Given the description of an element on the screen output the (x, y) to click on. 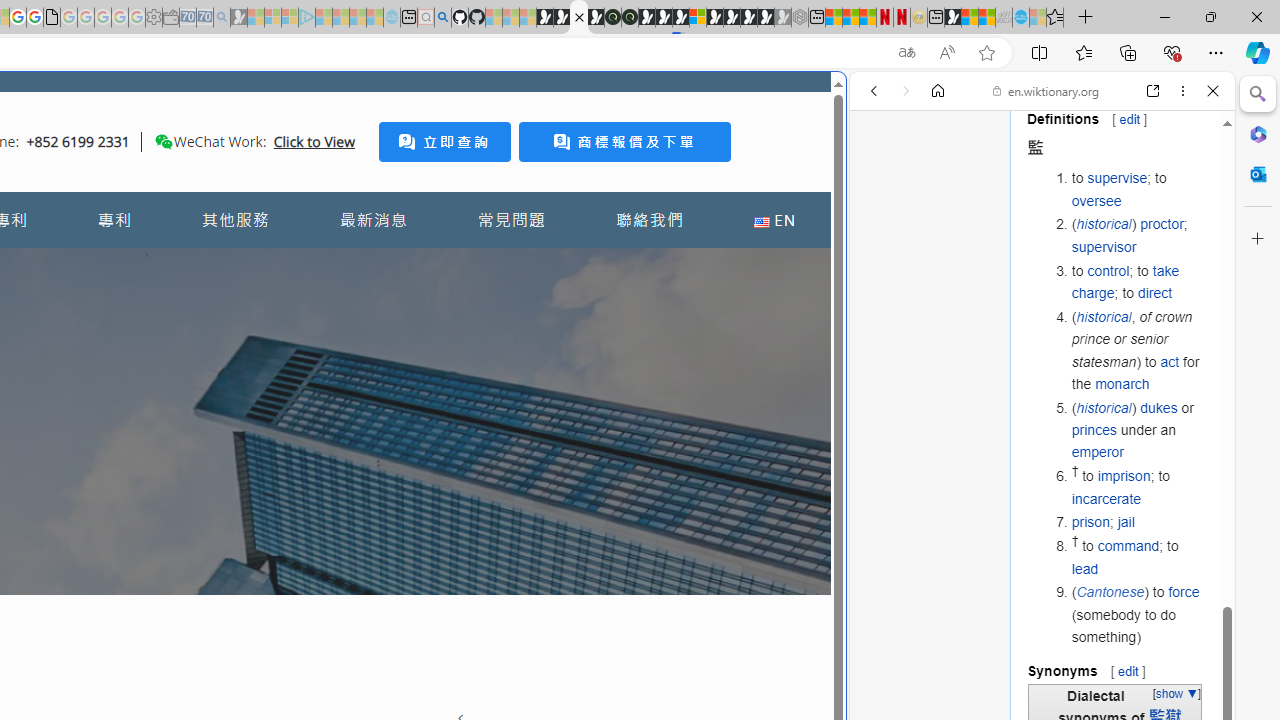
Services - Maintenance | Sky Blue Bikes - Sky Blue Bikes (1020, 17)
Close split screen (844, 102)
Earth has six continents not seven, radical new study claims (986, 17)
(historical) proctor; supervisor (1137, 236)
